Given the description of an element on the screen output the (x, y) to click on. 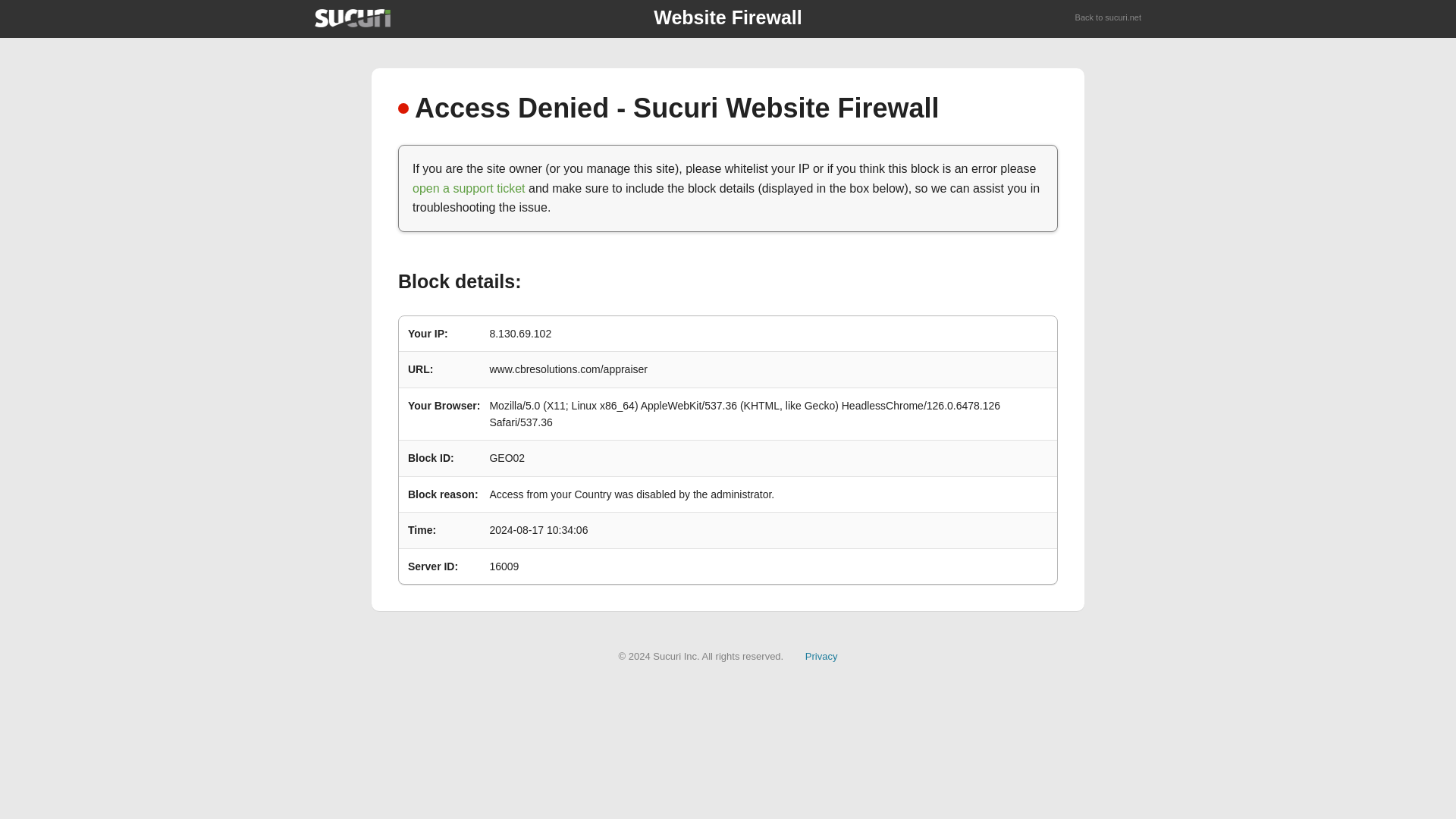
open a support ticket (468, 187)
Back to sucuri.net (1108, 18)
Privacy (821, 655)
